Given the description of an element on the screen output the (x, y) to click on. 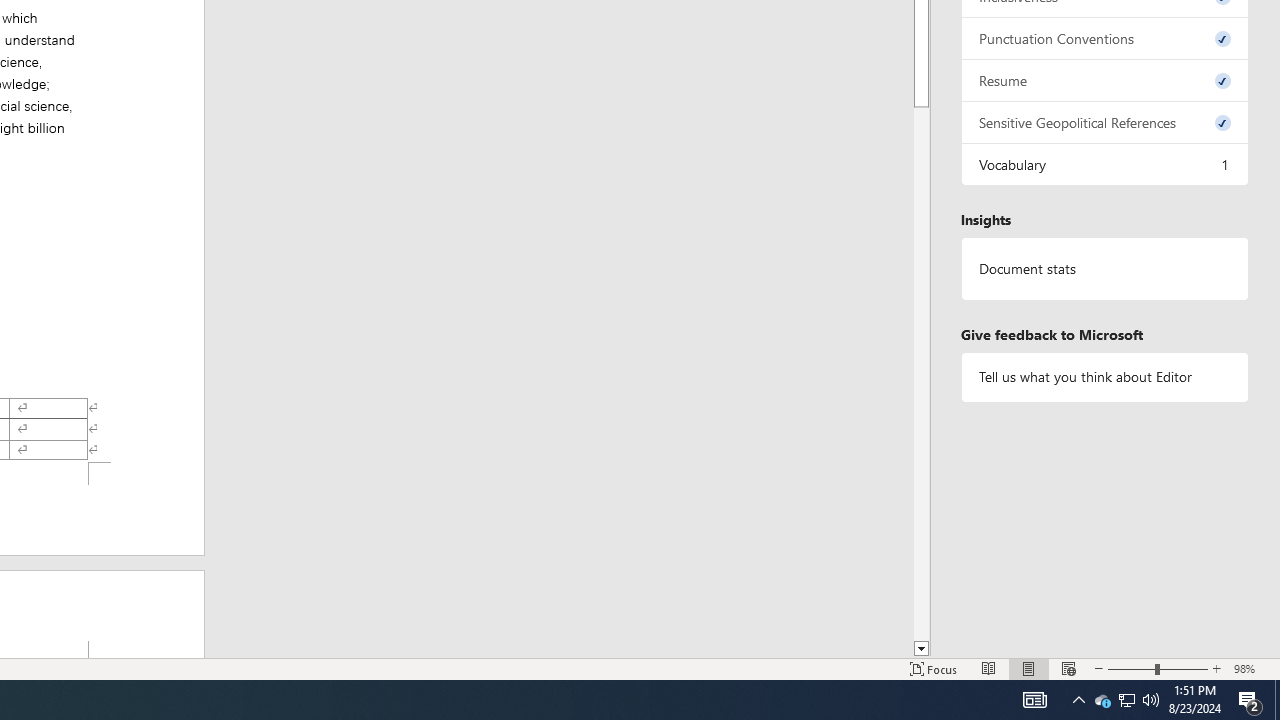
Page down (921, 369)
Document statistics (1105, 269)
Line down (921, 649)
Vocabulary, 1 issue. Press space or enter to review items. (1105, 164)
Resume, 0 issues. Press space or enter to review items. (1105, 79)
Tell us what you think about Editor (1105, 376)
